Given the description of an element on the screen output the (x, y) to click on. 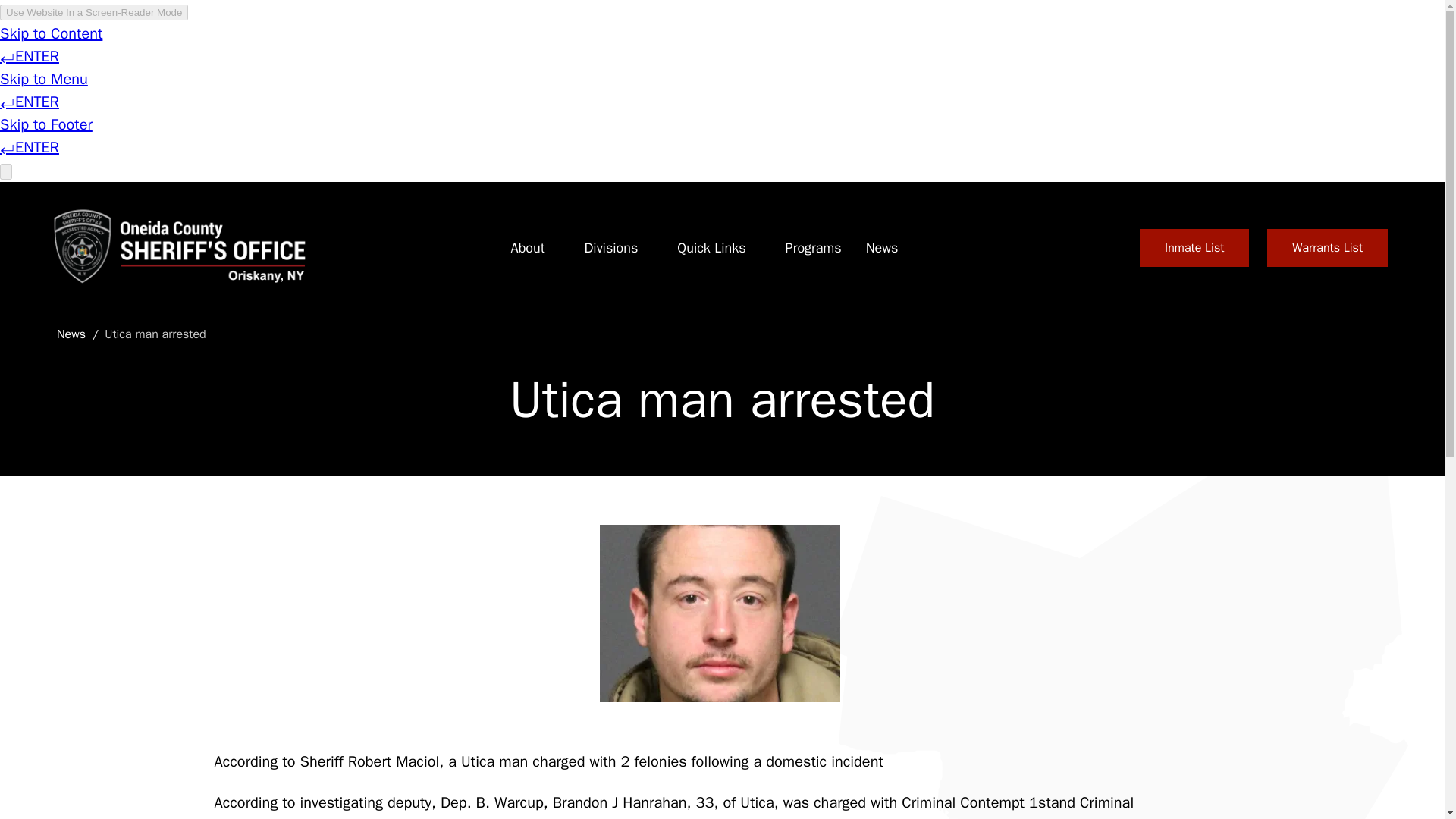
Quick Links (711, 247)
Inmate List (1194, 247)
Open search form (1102, 248)
Divisions (610, 247)
Quick Links (711, 247)
About (527, 247)
Divisions (610, 247)
About (527, 247)
Oneida County Sheriff's Office (177, 247)
Warrants List (1326, 247)
Programs (813, 247)
News (882, 247)
